Given the description of an element on the screen output the (x, y) to click on. 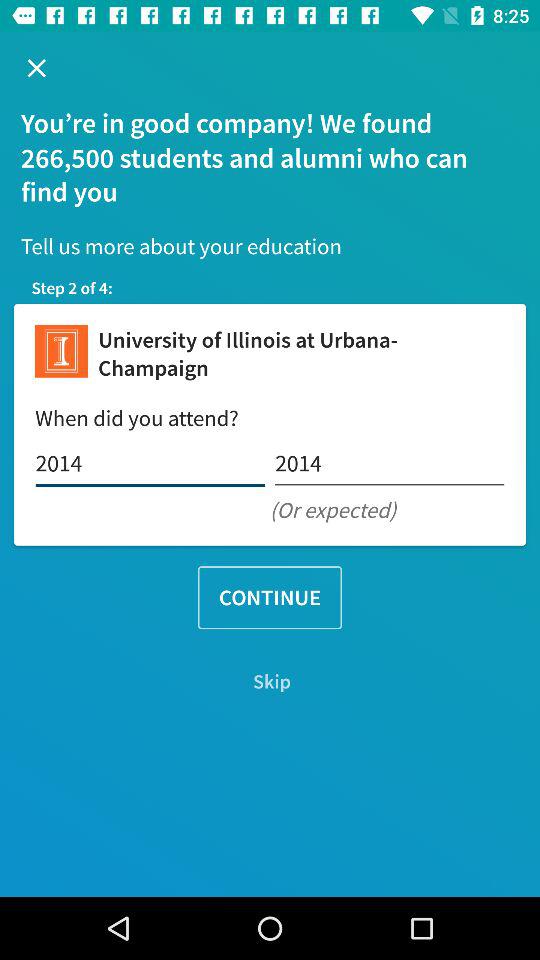
jump until continue item (269, 597)
